Given the description of an element on the screen output the (x, y) to click on. 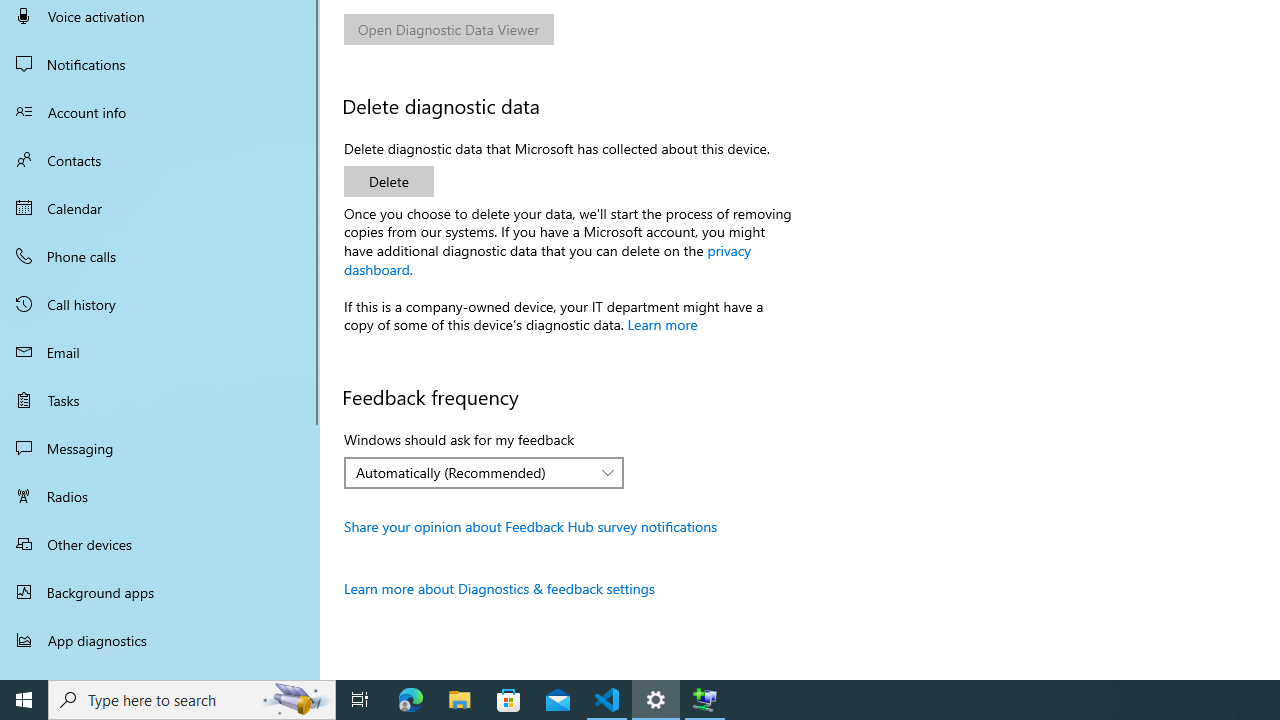
Share your opinion about Feedback Hub survey notifications (531, 525)
Extensible Wizards Host Process - 1 running window (704, 699)
Email (160, 351)
Phone calls (160, 255)
Messaging (160, 448)
Contacts (160, 160)
Learn more (662, 323)
privacy dashboard. (548, 258)
Settings - 1 running window (656, 699)
Notifications (160, 63)
Automatically (Recommended) (473, 471)
Open Diagnostic Data Viewer (449, 28)
